Given the description of an element on the screen output the (x, y) to click on. 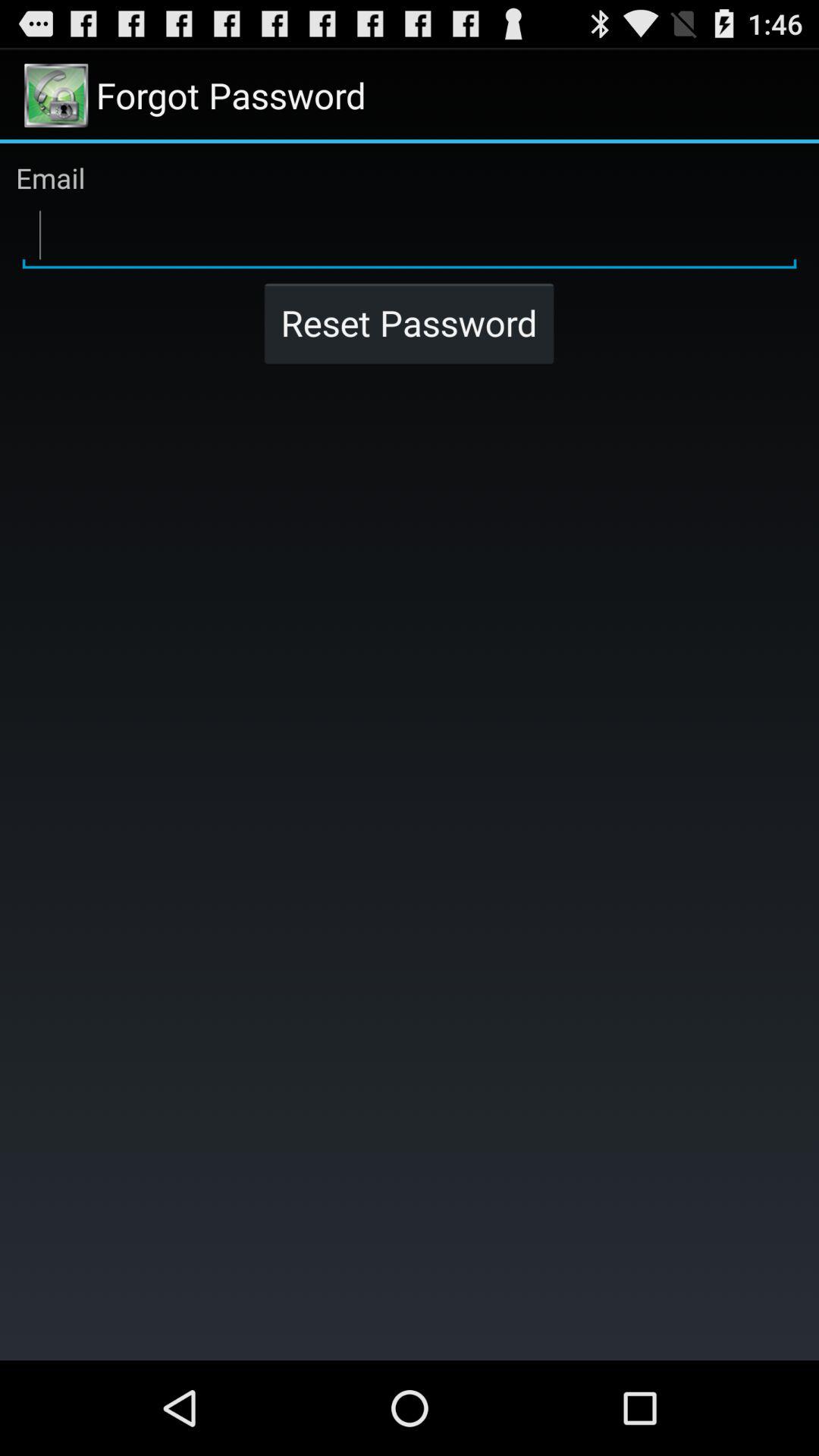
turn off the reset password (409, 322)
